Given the description of an element on the screen output the (x, y) to click on. 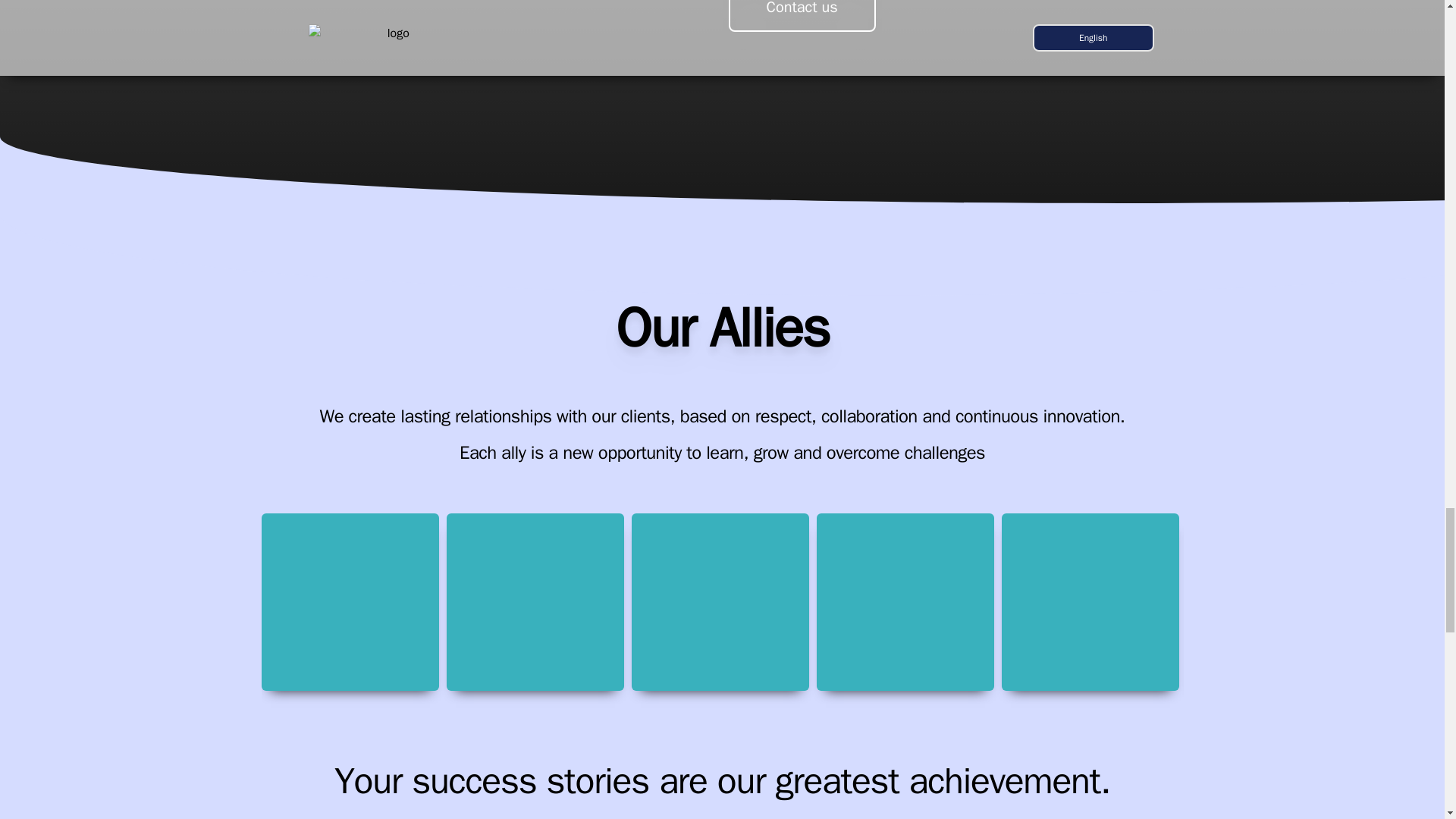
Contact us (801, 15)
